Given the description of an element on the screen output the (x, y) to click on. 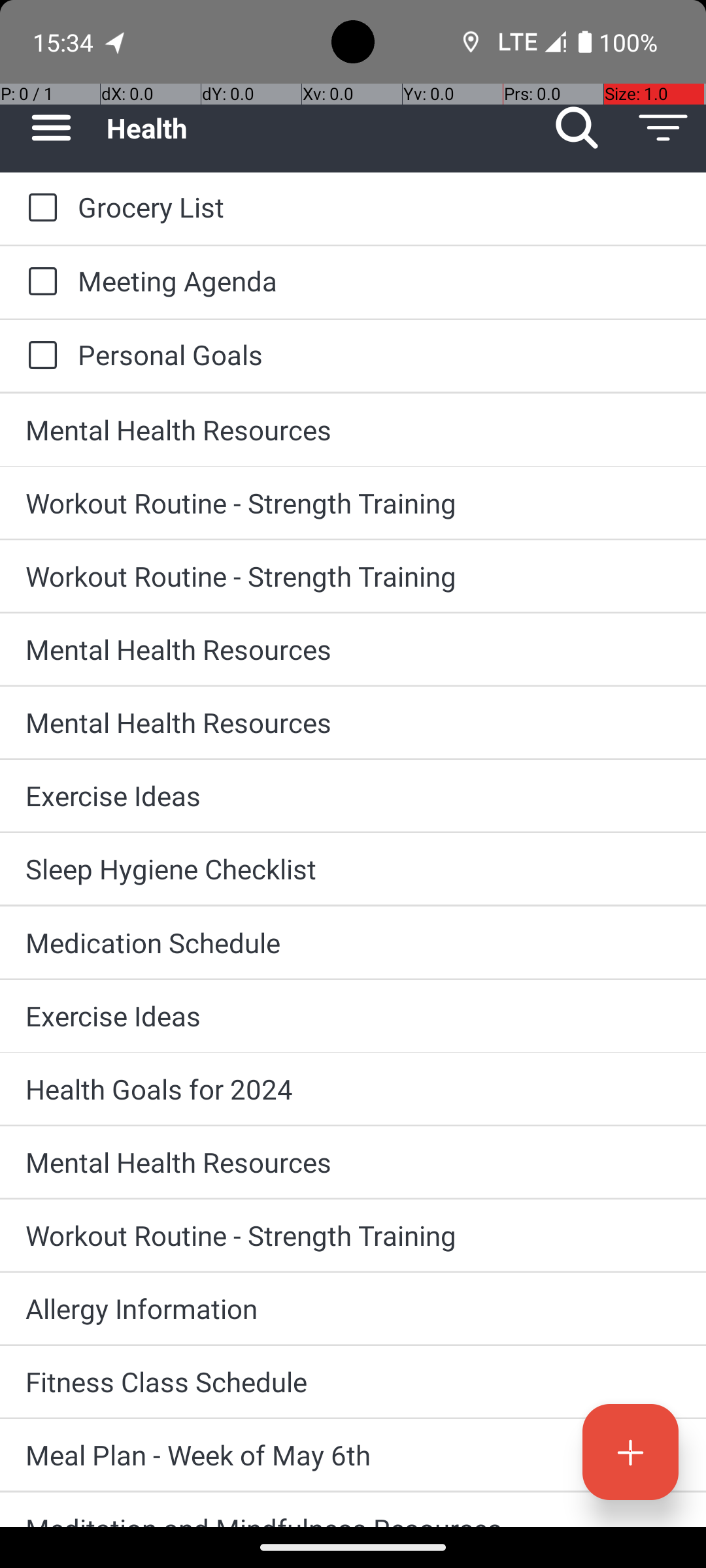
to-do: Grocery List Element type: android.widget.CheckBox (38, 208)
Grocery List Element type: android.widget.TextView (378, 206)
to-do: Meeting Agenda Element type: android.widget.CheckBox (38, 282)
Meeting Agenda Element type: android.widget.TextView (378, 280)
to-do: Personal Goals Element type: android.widget.CheckBox (38, 356)
Personal Goals Element type: android.widget.TextView (378, 354)
Mental Health Resources Element type: android.widget.TextView (352, 429)
Workout Routine - Strength Training Element type: android.widget.TextView (352, 502)
Exercise Ideas Element type: android.widget.TextView (352, 795)
Sleep Hygiene Checklist Element type: android.widget.TextView (352, 868)
Medication Schedule Element type: android.widget.TextView (352, 942)
Health Goals for 2024 Element type: android.widget.TextView (352, 1088)
Allergy Information Element type: android.widget.TextView (352, 1307)
Fitness Class Schedule Element type: android.widget.TextView (352, 1381)
Meal Plan - Week of May 6th Element type: android.widget.TextView (352, 1454)
Meditation and Mindfulness Resources Element type: android.widget.TextView (352, 1517)
